Given the description of an element on the screen output the (x, y) to click on. 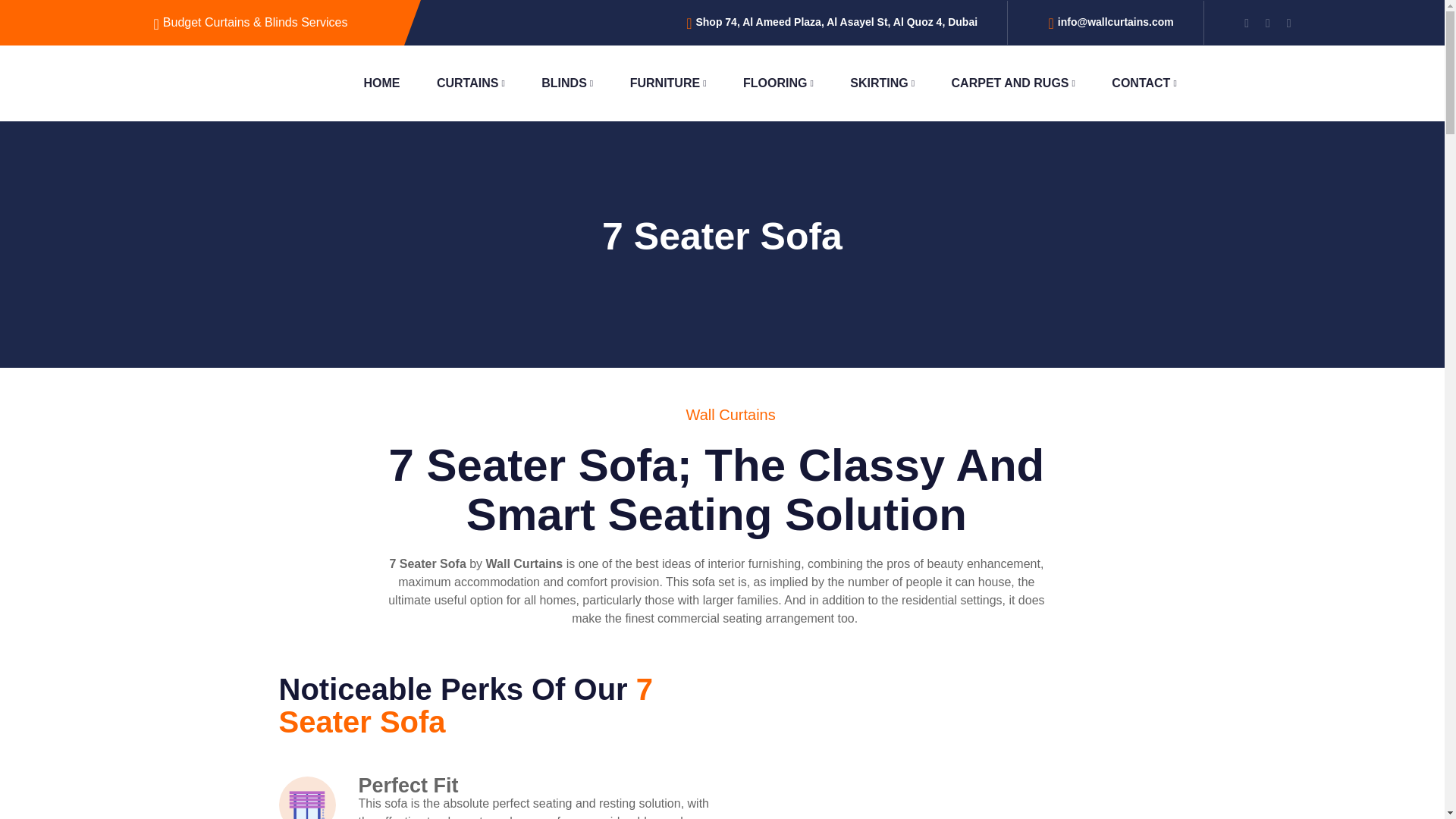
Curtains (470, 83)
CURTAINS (470, 83)
